Given the description of an element on the screen output the (x, y) to click on. 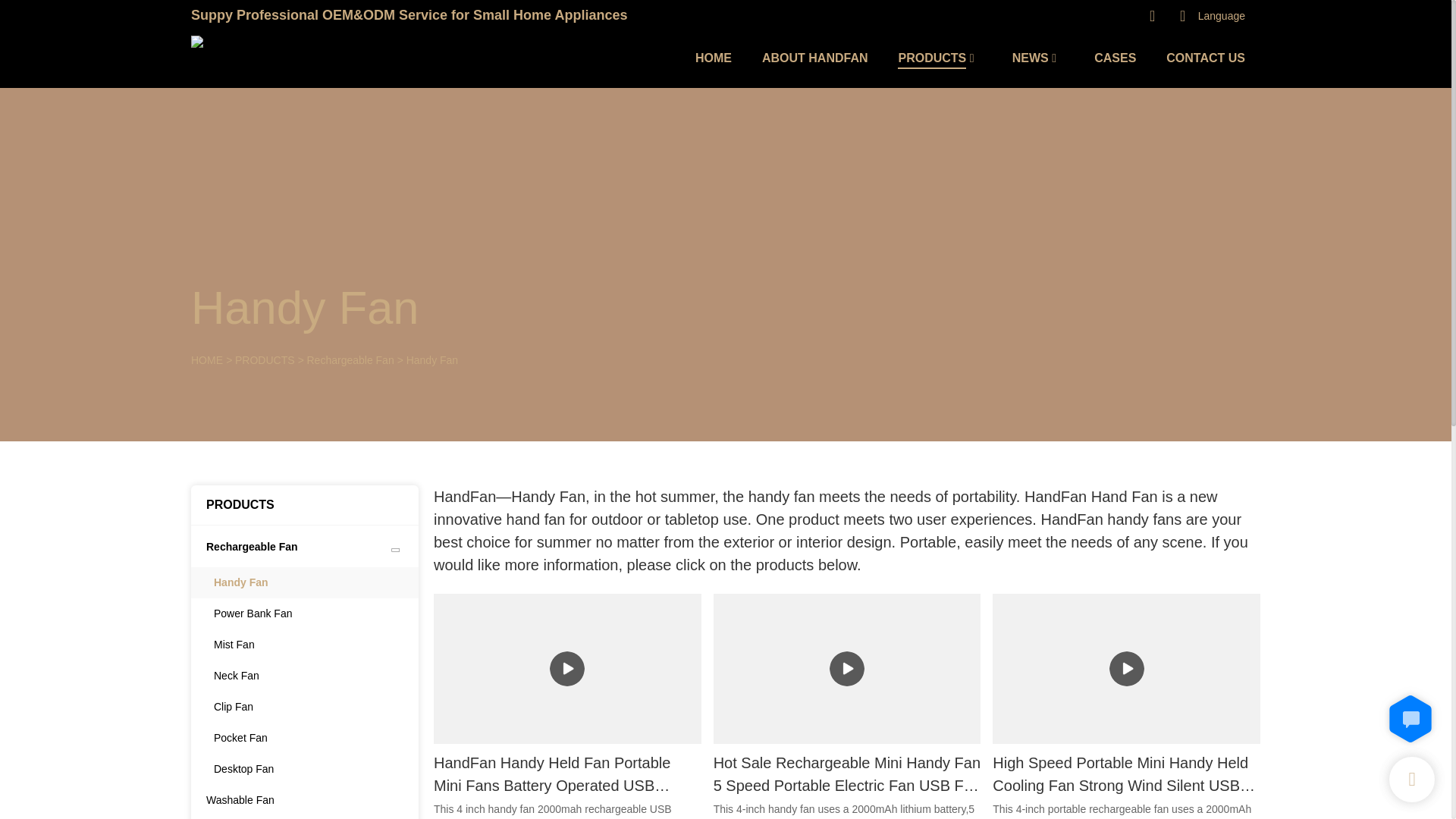
CASES (1114, 57)
PRODUCTS (264, 359)
HOME (713, 57)
HOME (206, 359)
ABOUT HANDFAN (814, 57)
